Given the description of an element on the screen output the (x, y) to click on. 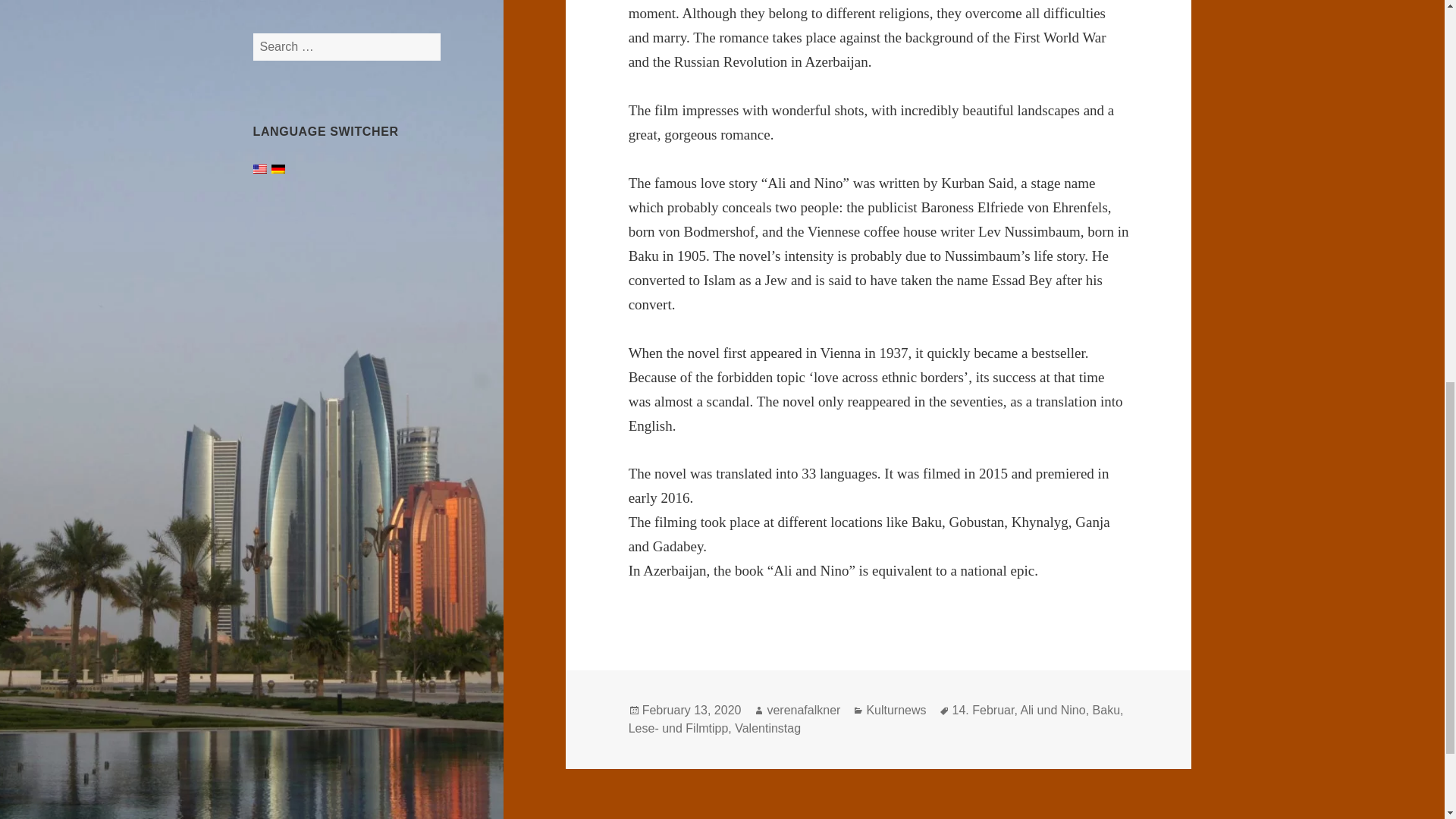
Lese- und Filmtipp (678, 728)
Valentinstag (767, 728)
verenafalkner (803, 710)
Baku (1106, 710)
Kulturnews (896, 710)
Ali und Nino (1052, 710)
14. Februar (983, 710)
February 13, 2020 (691, 710)
